Given the description of an element on the screen output the (x, y) to click on. 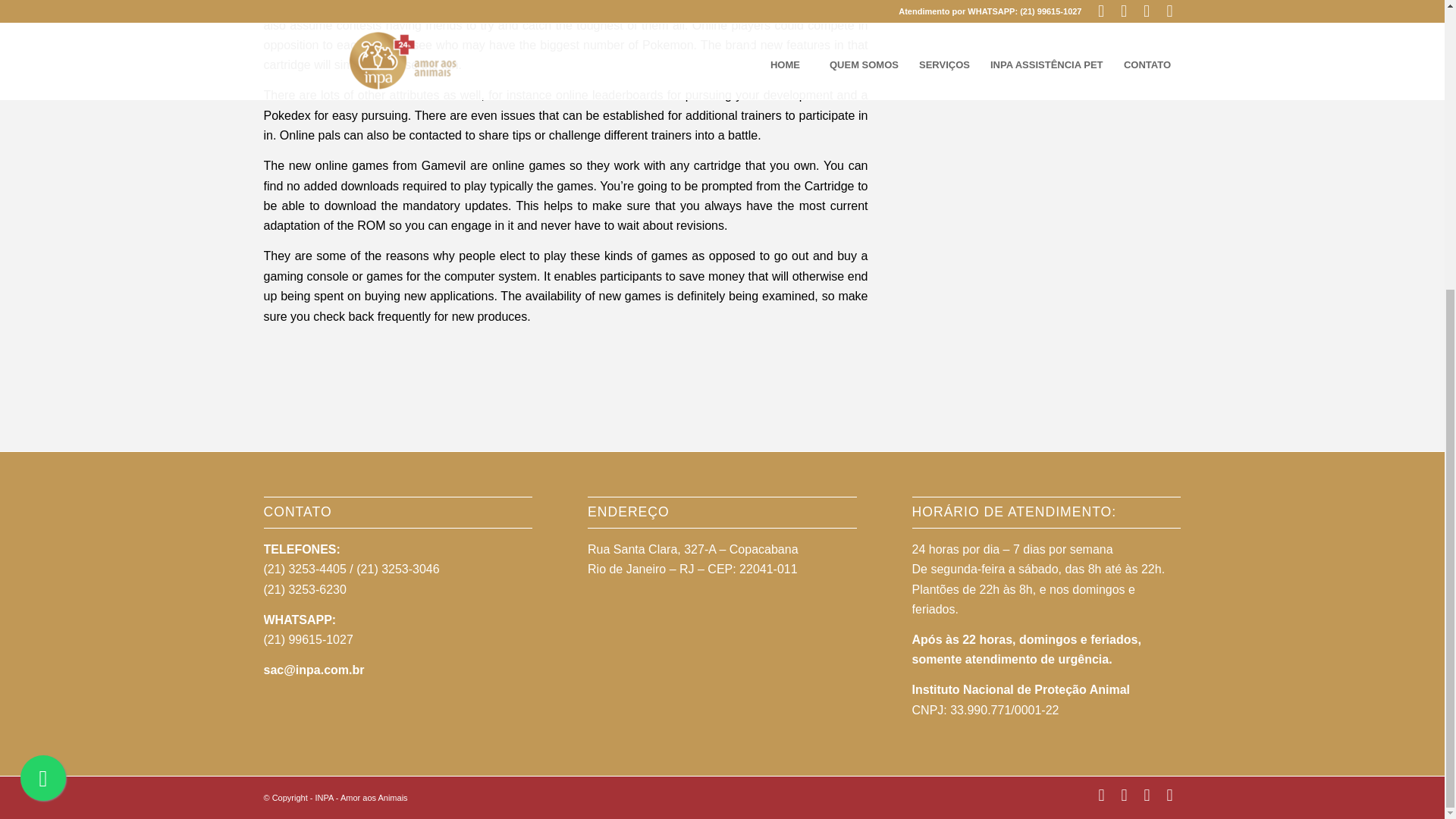
Facebook (1101, 794)
Twitter (1124, 794)
Instagram (1169, 794)
Youtube (1146, 794)
